Given the description of an element on the screen output the (x, y) to click on. 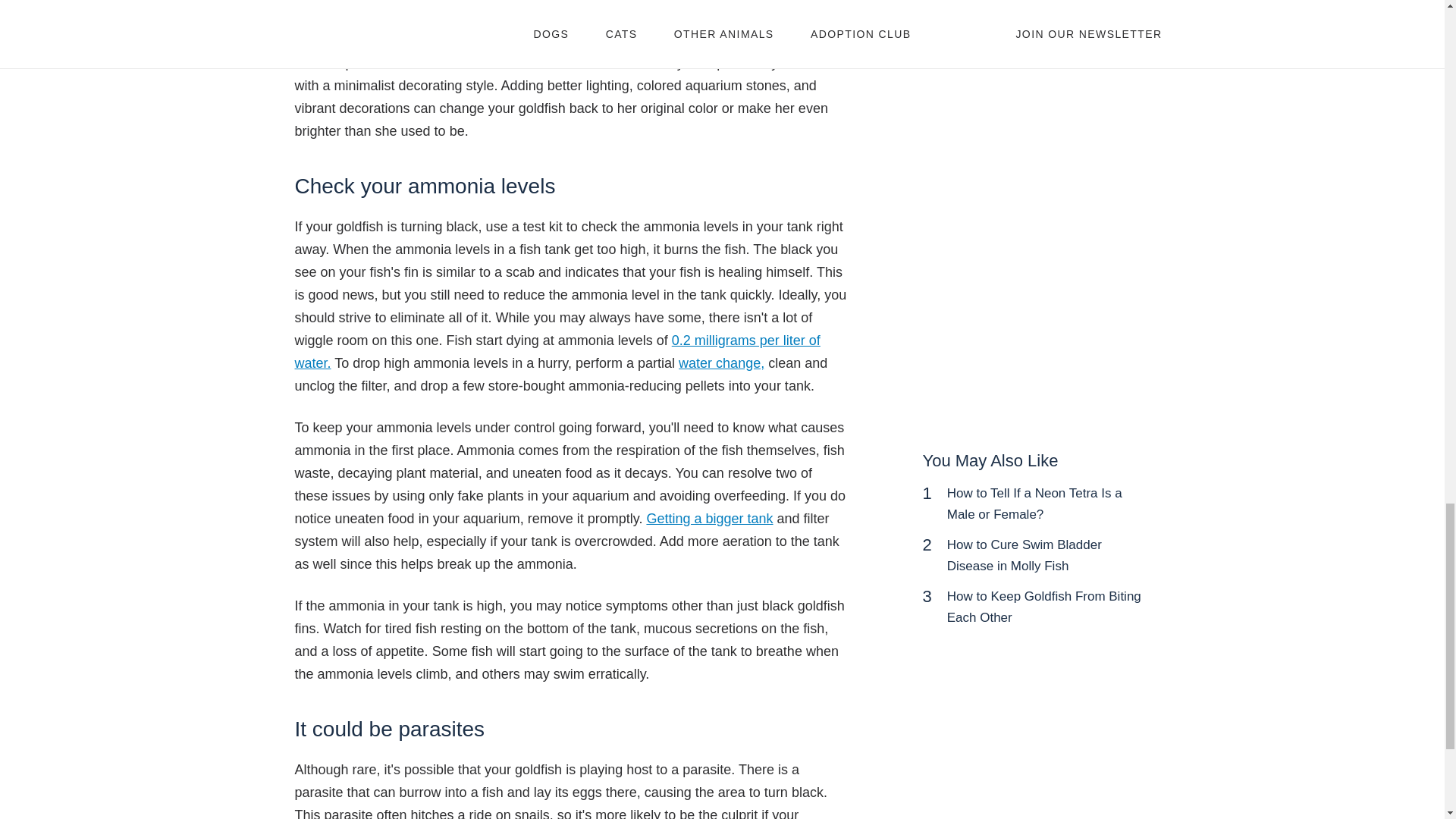
How to Cure Swim Bladder Disease in Molly Fish (1024, 555)
How to Keep Goldfish From Biting Each Other (1044, 606)
How to Tell If a Neon Tetra Is a Male or Female? (1034, 503)
